Given the description of an element on the screen output the (x, y) to click on. 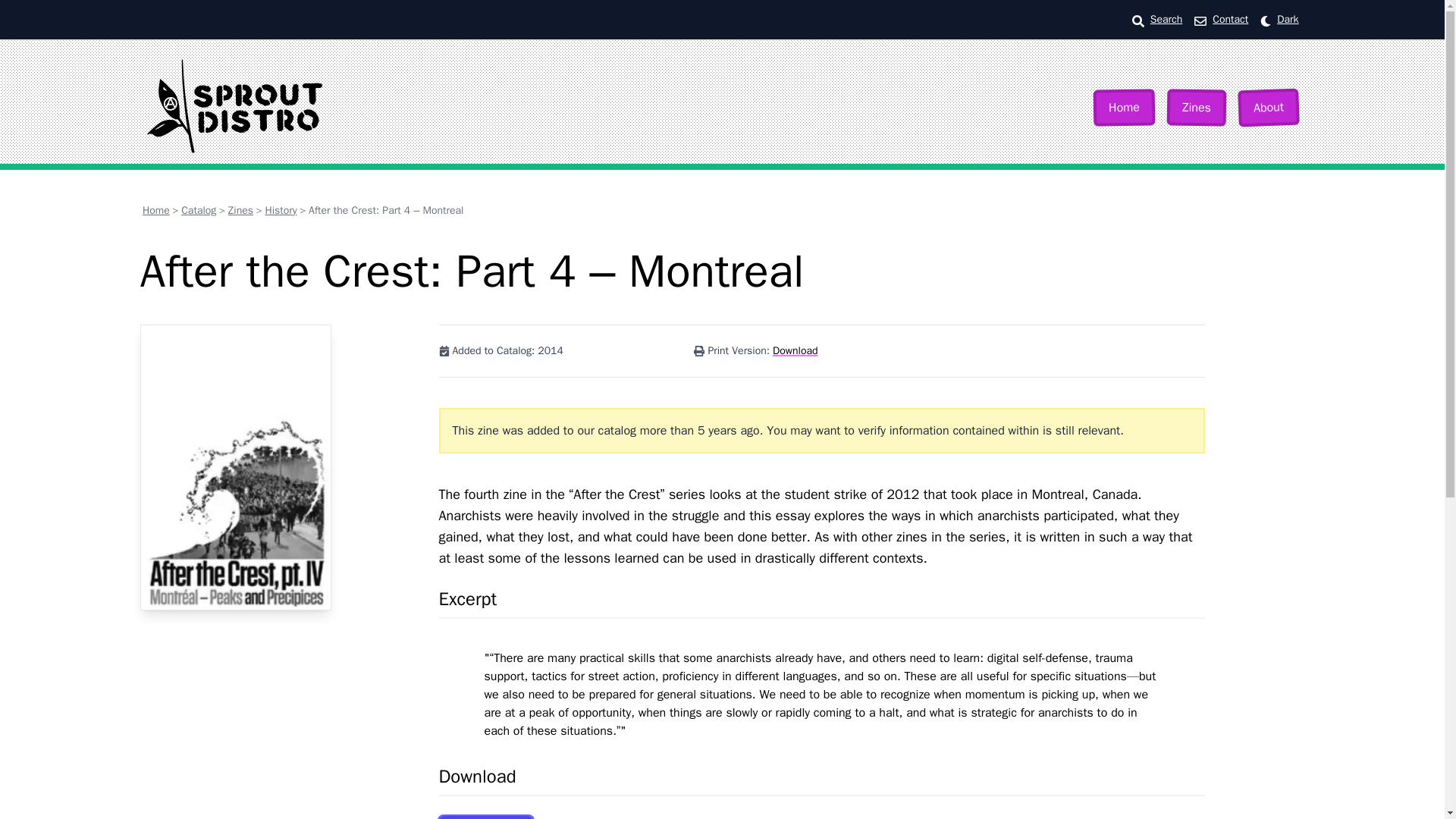
Home (1123, 106)
Sprout Distro (234, 104)
Catalog (197, 210)
Imposed (485, 817)
About (1267, 106)
Download (795, 350)
Contact (1229, 19)
Home (156, 210)
Zines (240, 210)
History (280, 210)
Zines (1196, 106)
Search (1166, 19)
